Given the description of an element on the screen output the (x, y) to click on. 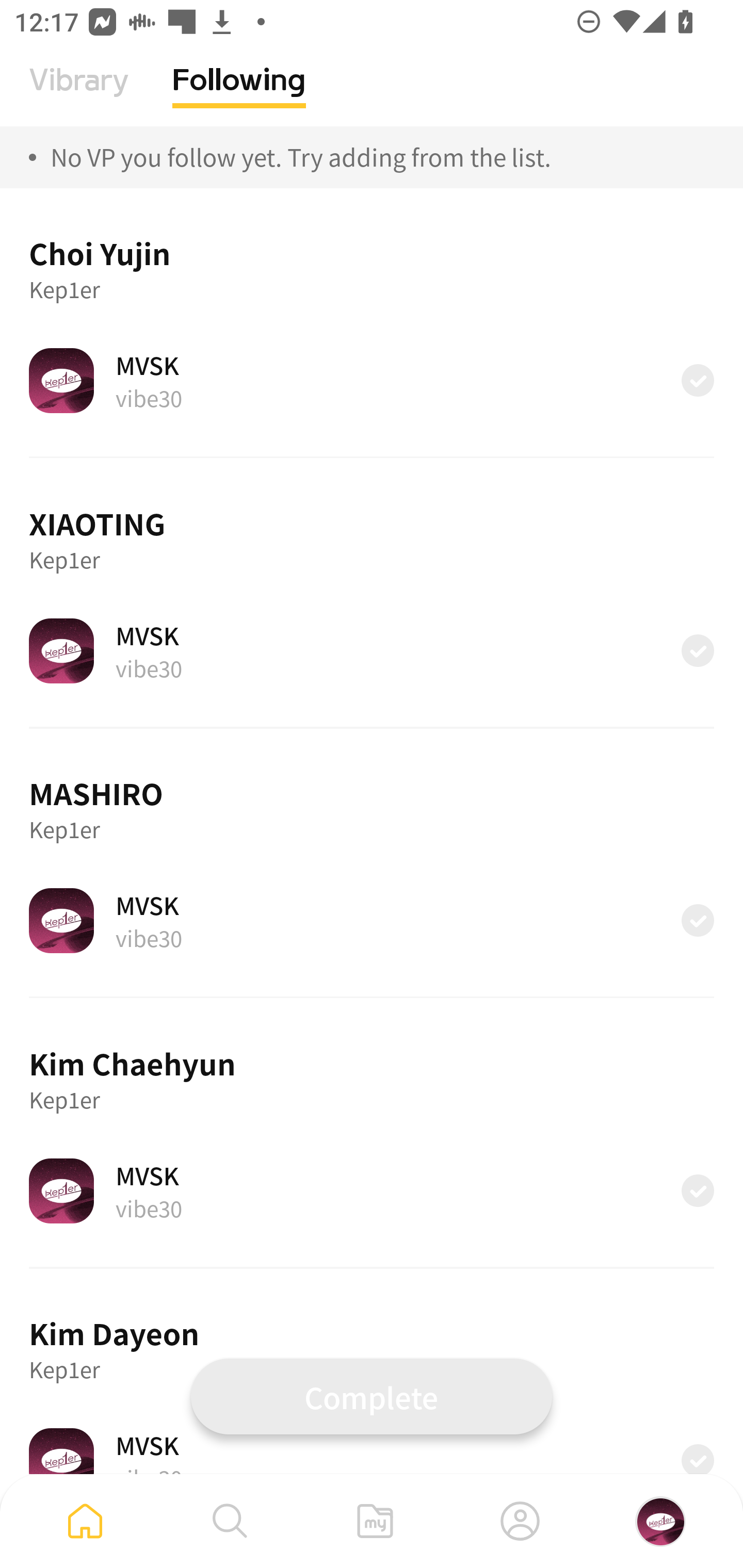
Vibrary (78, 95)
Following (239, 95)
MVSK vibe30 (371, 380)
MVSK vibe30 (371, 650)
MVSK vibe30 (371, 920)
MVSK vibe30 (371, 1190)
Complete (371, 1395)
MVSK vibe30 (371, 1450)
